Given the description of an element on the screen output the (x, y) to click on. 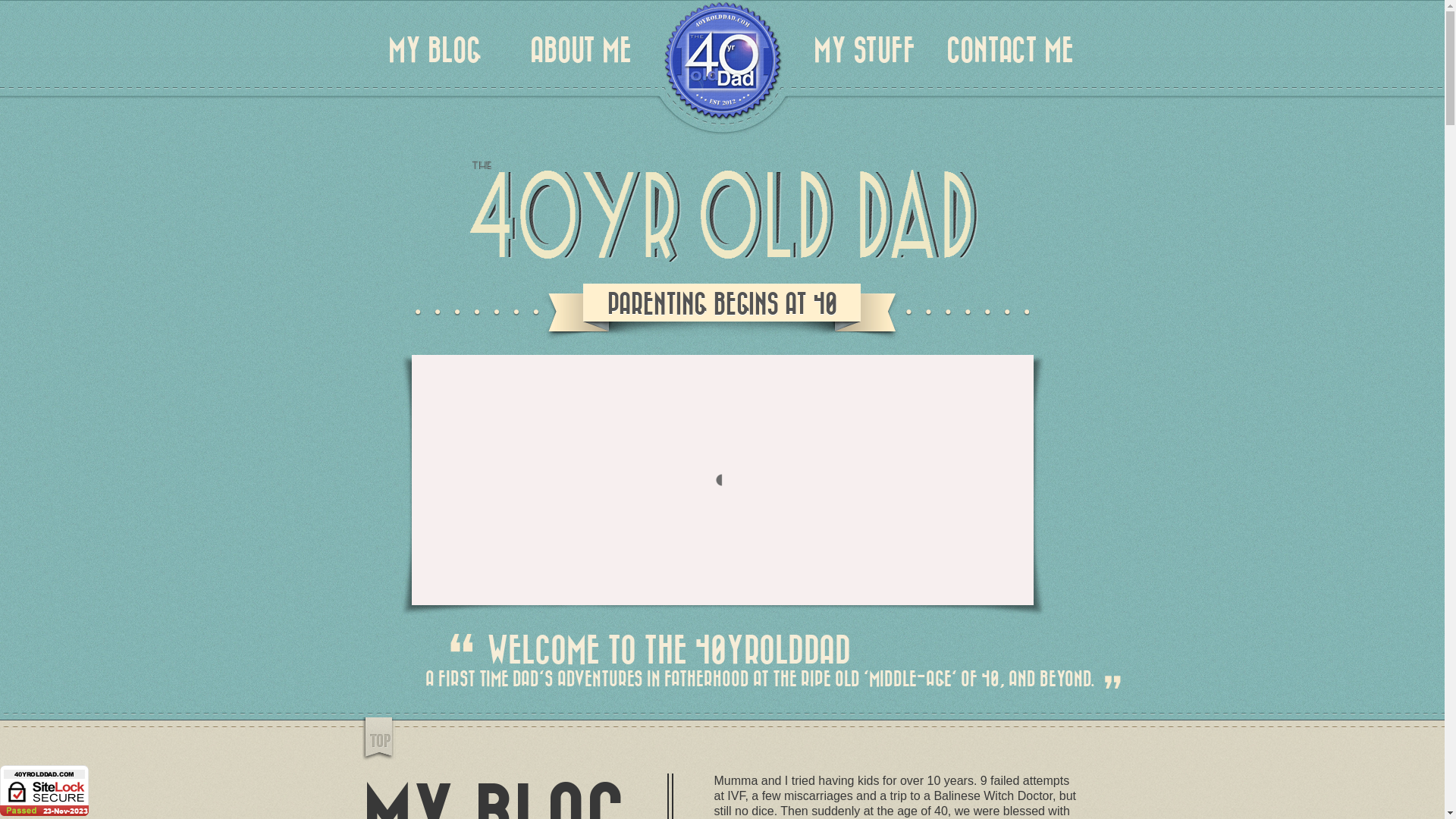
ABOUT ME Element type: text (580, 51)
MY BLOG Element type: text (435, 51)
CONTACT ME Element type: text (1009, 51)
MY STUFF Element type: text (864, 51)
SiteLock Element type: hover (44, 790)
